Given the description of an element on the screen output the (x, y) to click on. 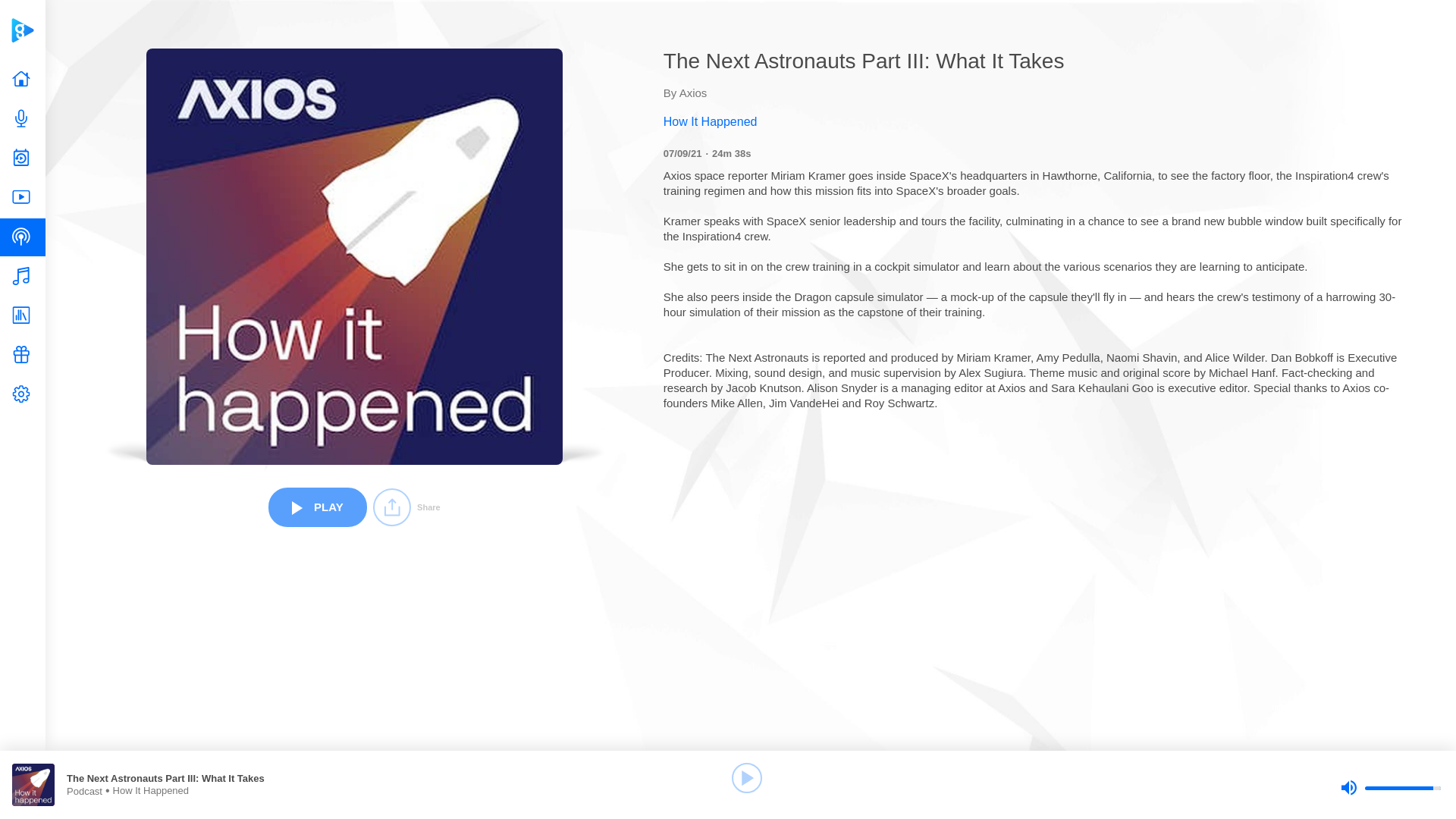
Global Player (22, 30)
Share (406, 507)
PLAY (316, 507)
How It Happened (1035, 121)
Share (406, 507)
Global Player (22, 30)
